Given the description of an element on the screen output the (x, y) to click on. 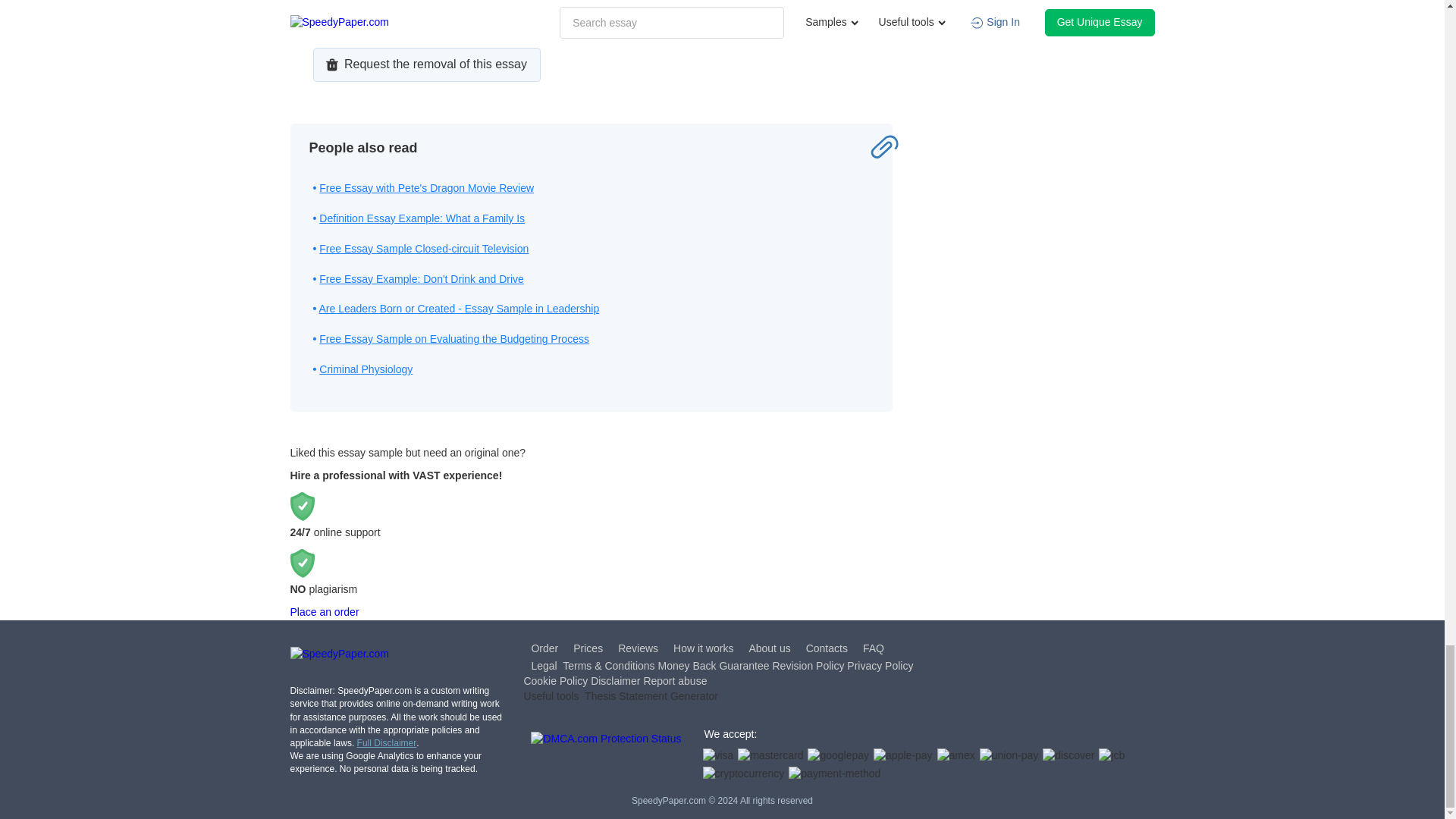
payment-method (834, 774)
googlepay (838, 754)
union-pay (1009, 754)
DMCA.com Protection Status (606, 756)
apple-pay (903, 754)
cryptocurrency (742, 774)
mastercard (770, 754)
amex (956, 754)
visa (717, 754)
jcb (1111, 754)
